Given the description of an element on the screen output the (x, y) to click on. 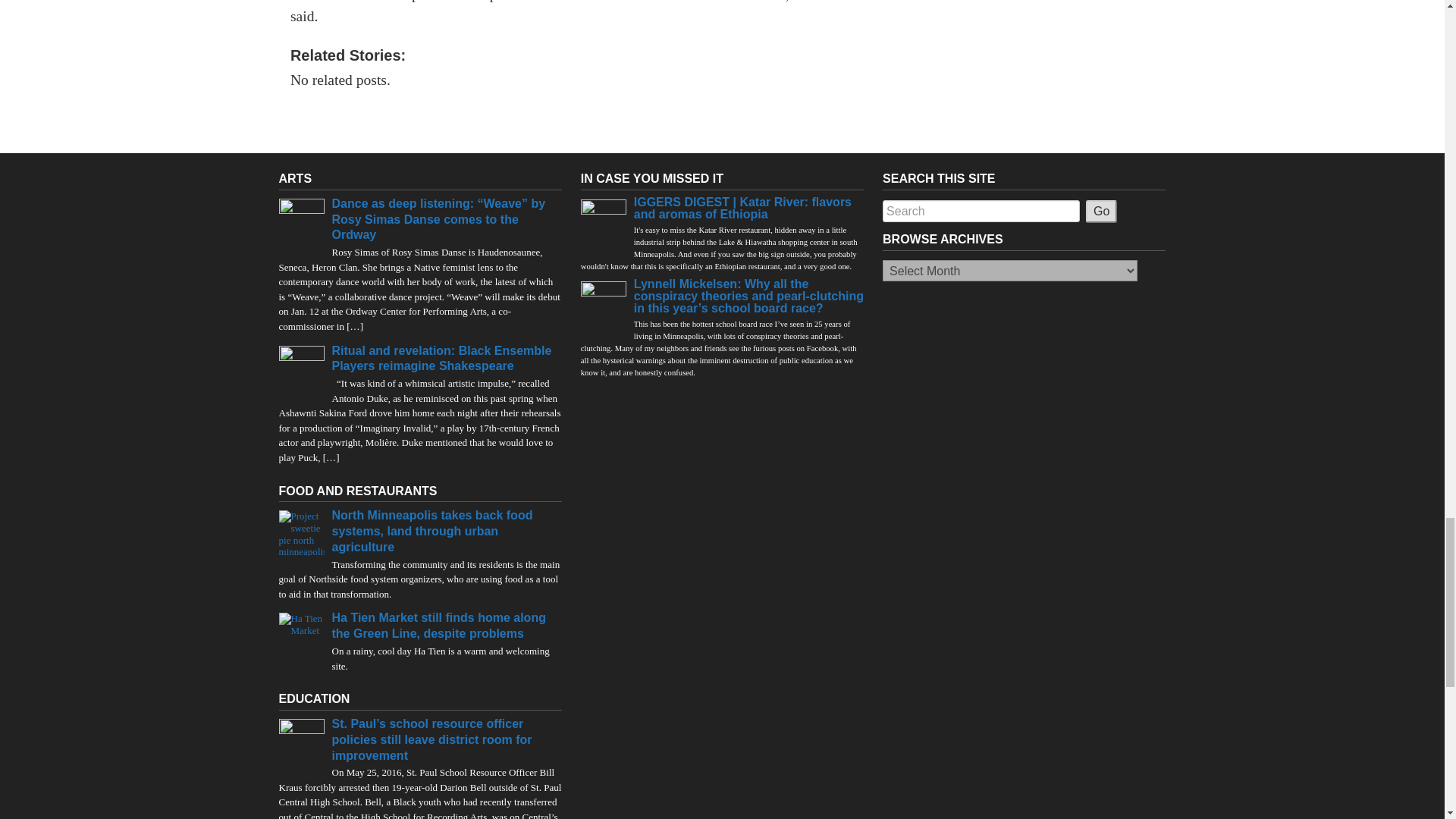
Go (1101, 210)
Go (1101, 210)
